Given the description of an element on the screen output the (x, y) to click on. 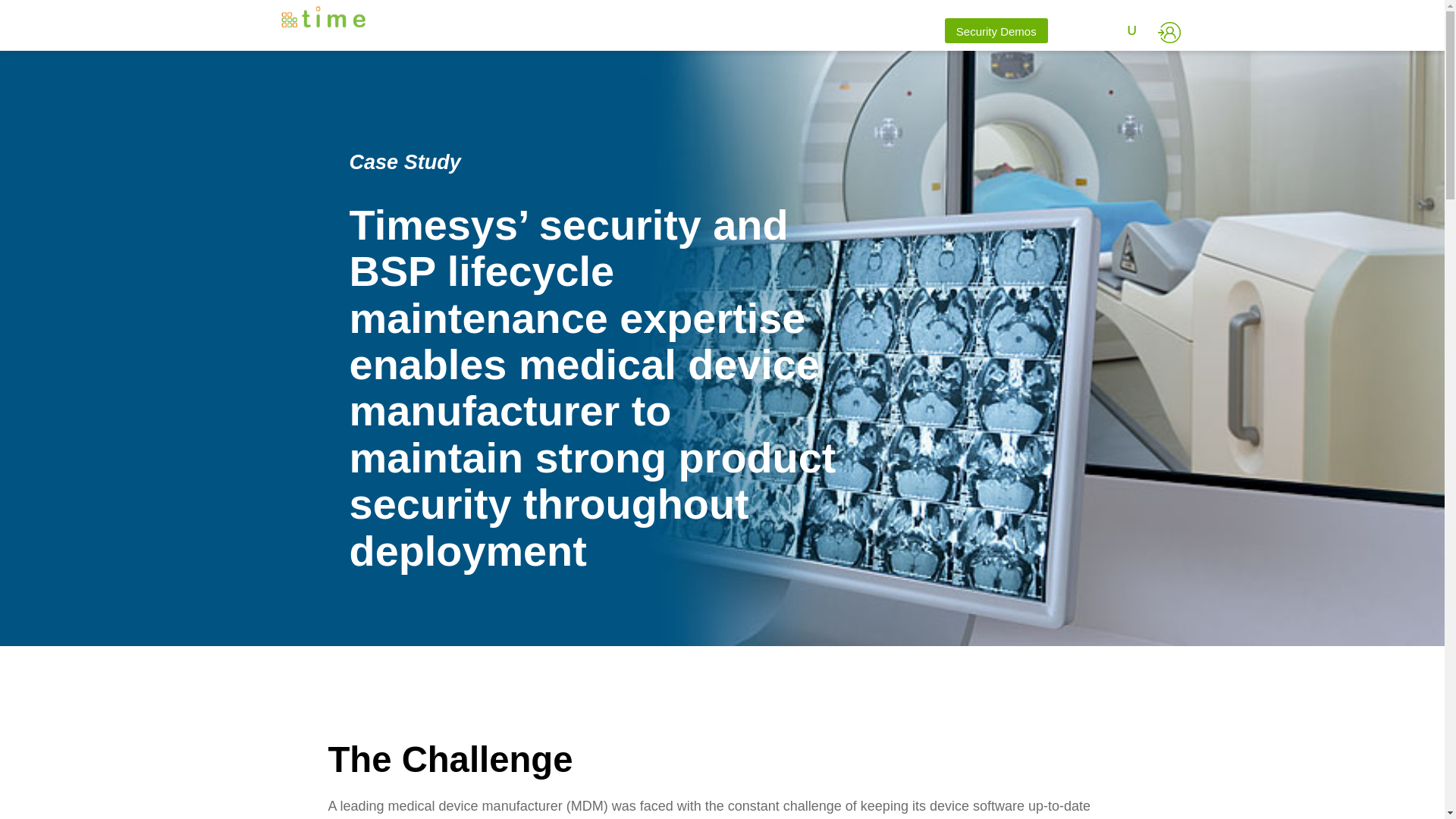
Solutions (665, 33)
Home (607, 33)
Resources (822, 33)
Industries (742, 33)
Security Demos (996, 30)
About Us (900, 33)
